Given the description of an element on the screen output the (x, y) to click on. 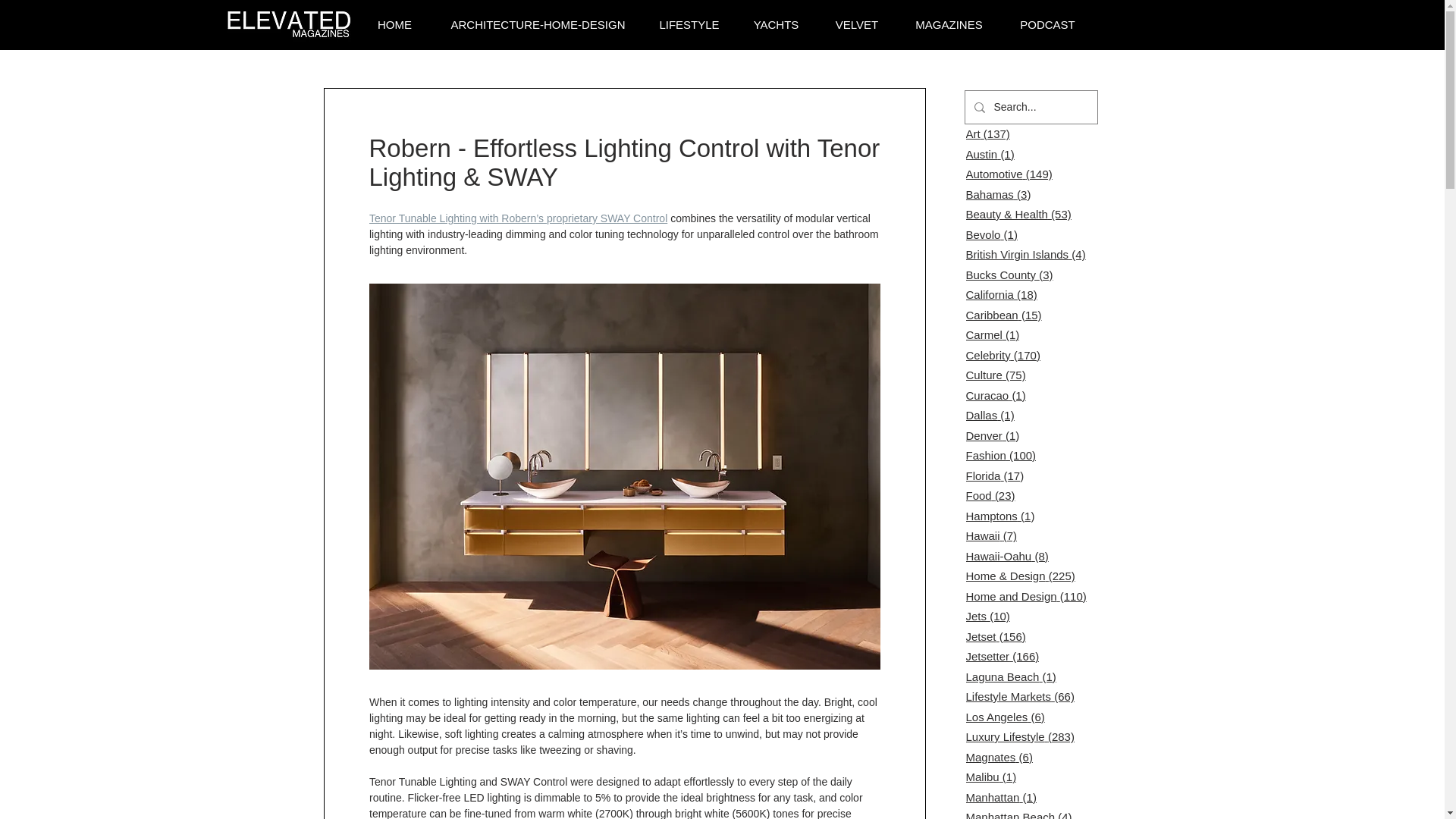
HOME (394, 25)
VELVET (856, 25)
PODCAST (1047, 25)
MAGAZINES (948, 25)
YACHTS (775, 25)
